Given the description of an element on the screen output the (x, y) to click on. 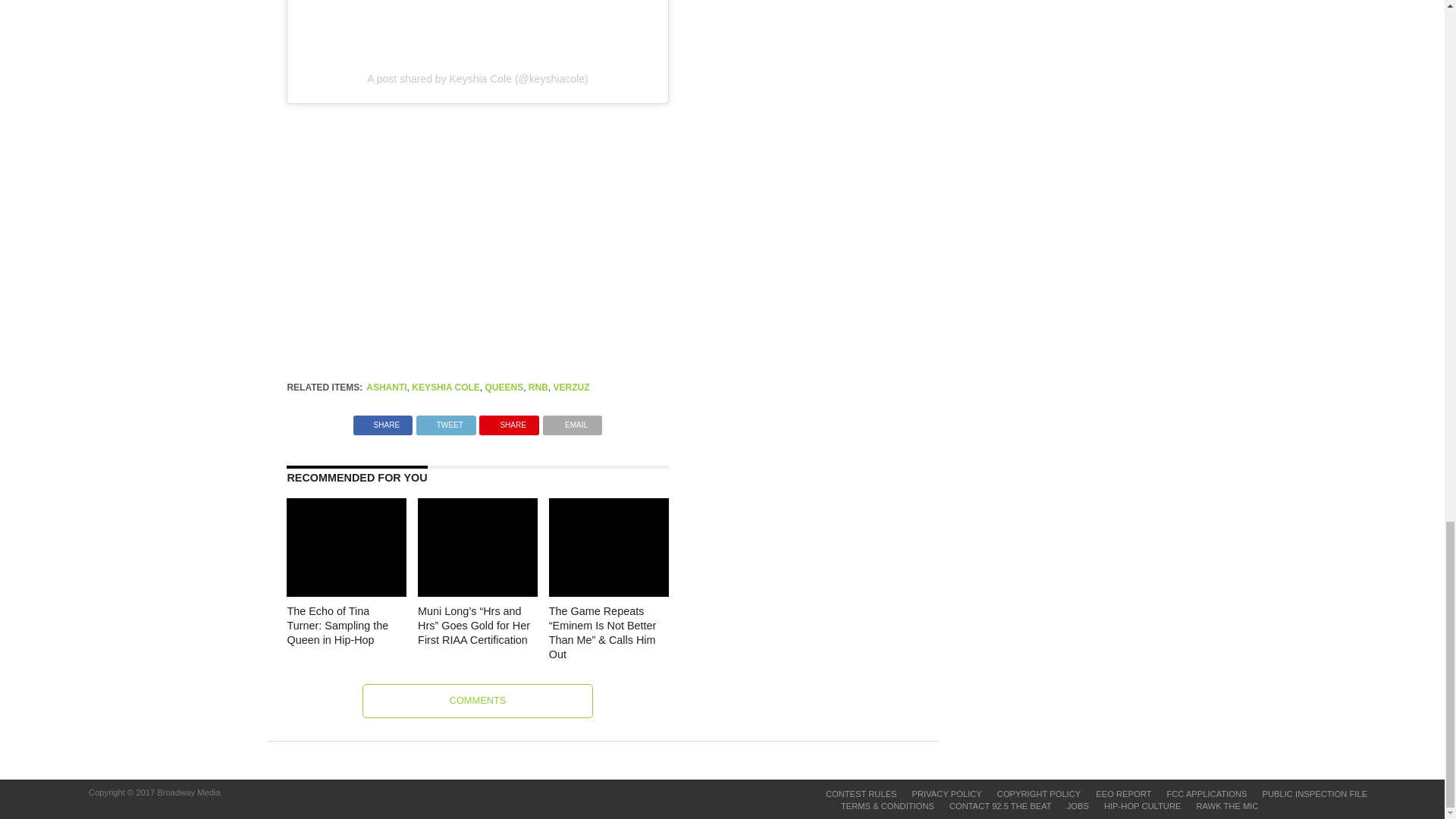
The Echo of Tina Turner: Sampling the Queen in Hip-Hop (346, 613)
Pin This Post (508, 420)
Tweet This Post (446, 420)
Share on Facebook (382, 420)
